Given the description of an element on the screen output the (x, y) to click on. 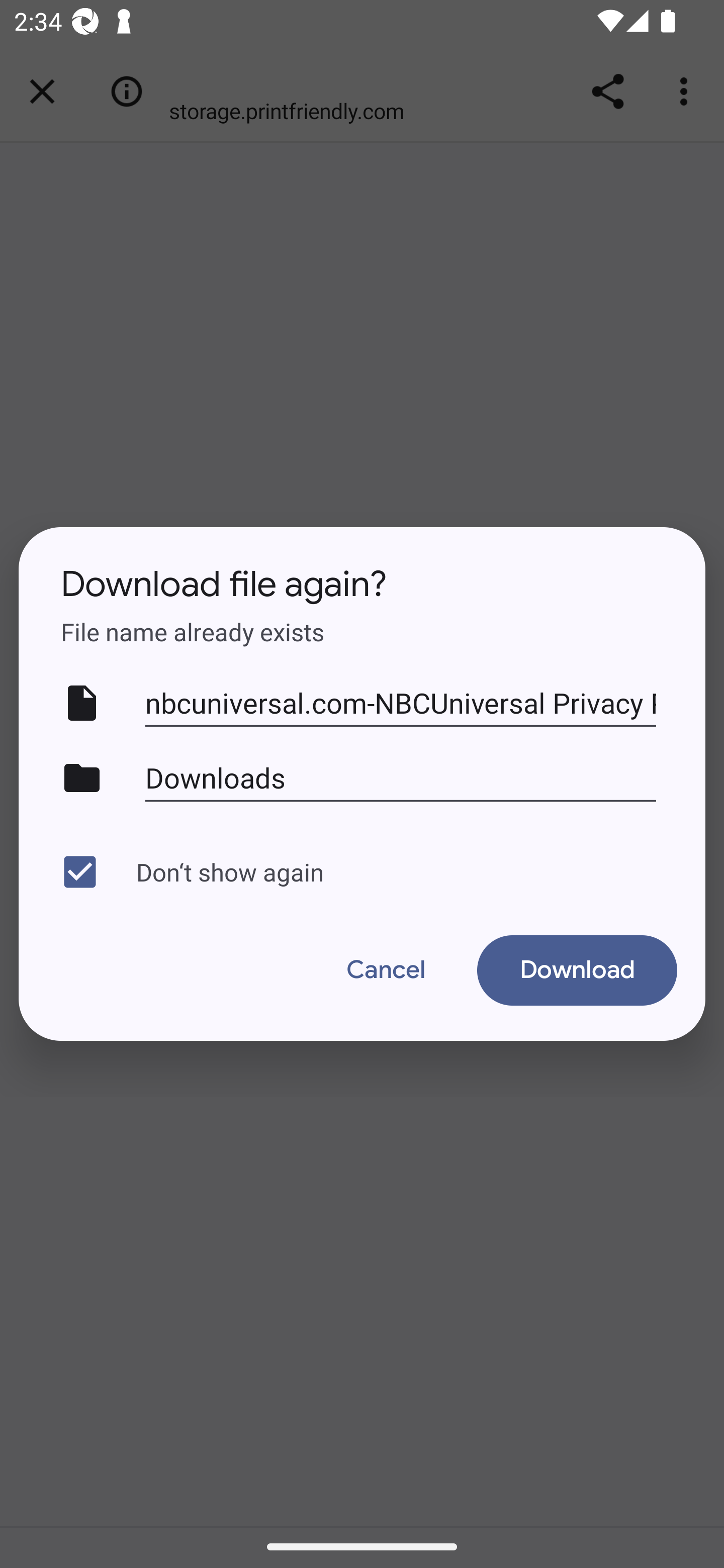
Downloads (400, 777)
Don‘t show again (357, 871)
Cancel (385, 970)
Download (576, 970)
